Given the description of an element on the screen output the (x, y) to click on. 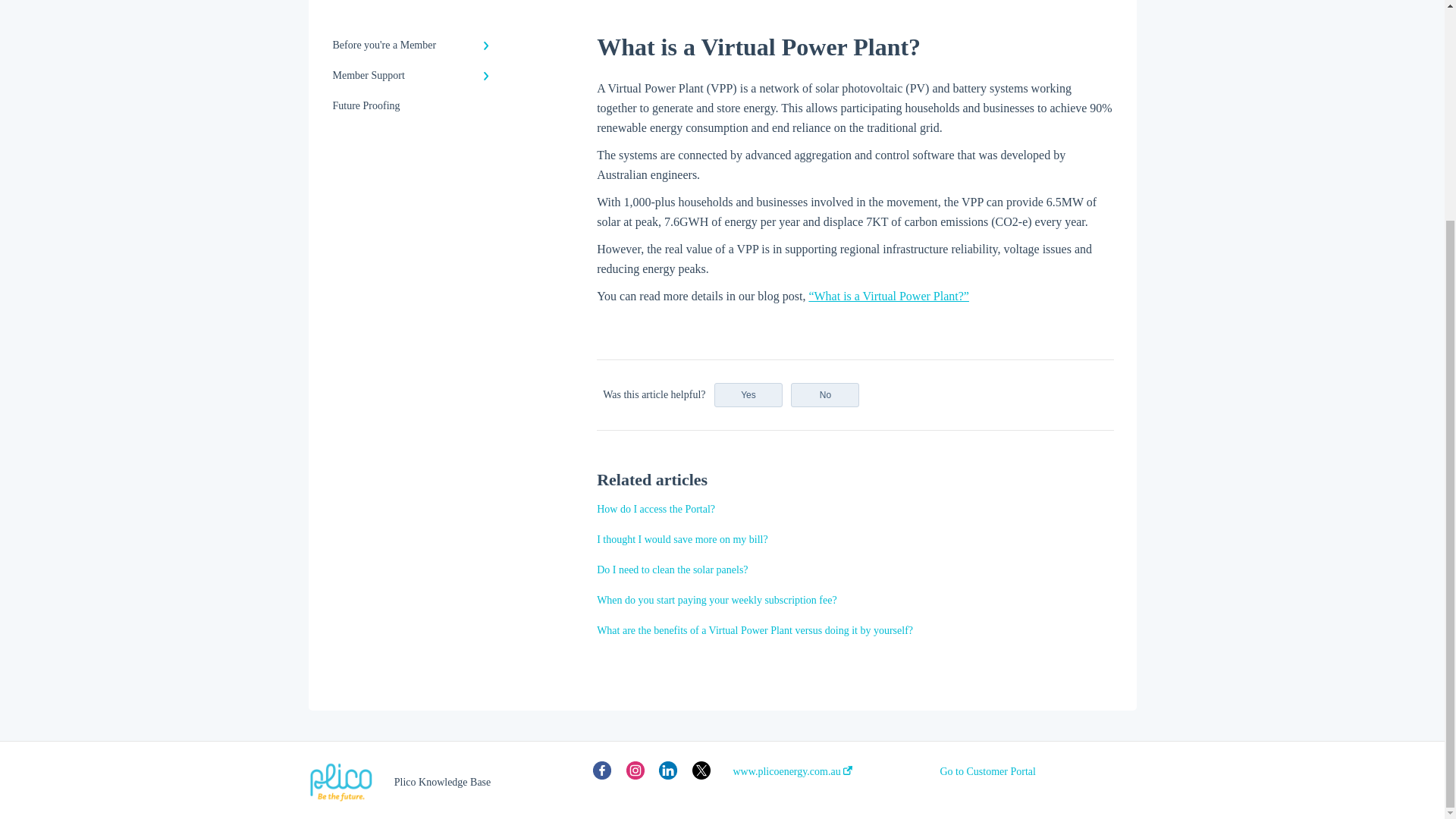
When do you start paying your weekly subscription fee? (715, 600)
I thought I would save more on my bill? (682, 539)
No (824, 395)
Yes (748, 395)
How do I access the Portal? (655, 509)
Future Proofing (414, 105)
Before you're a Member (414, 45)
Do I need to clean the solar panels? (672, 569)
Go to Customer Portal (987, 771)
